Given the description of an element on the screen output the (x, y) to click on. 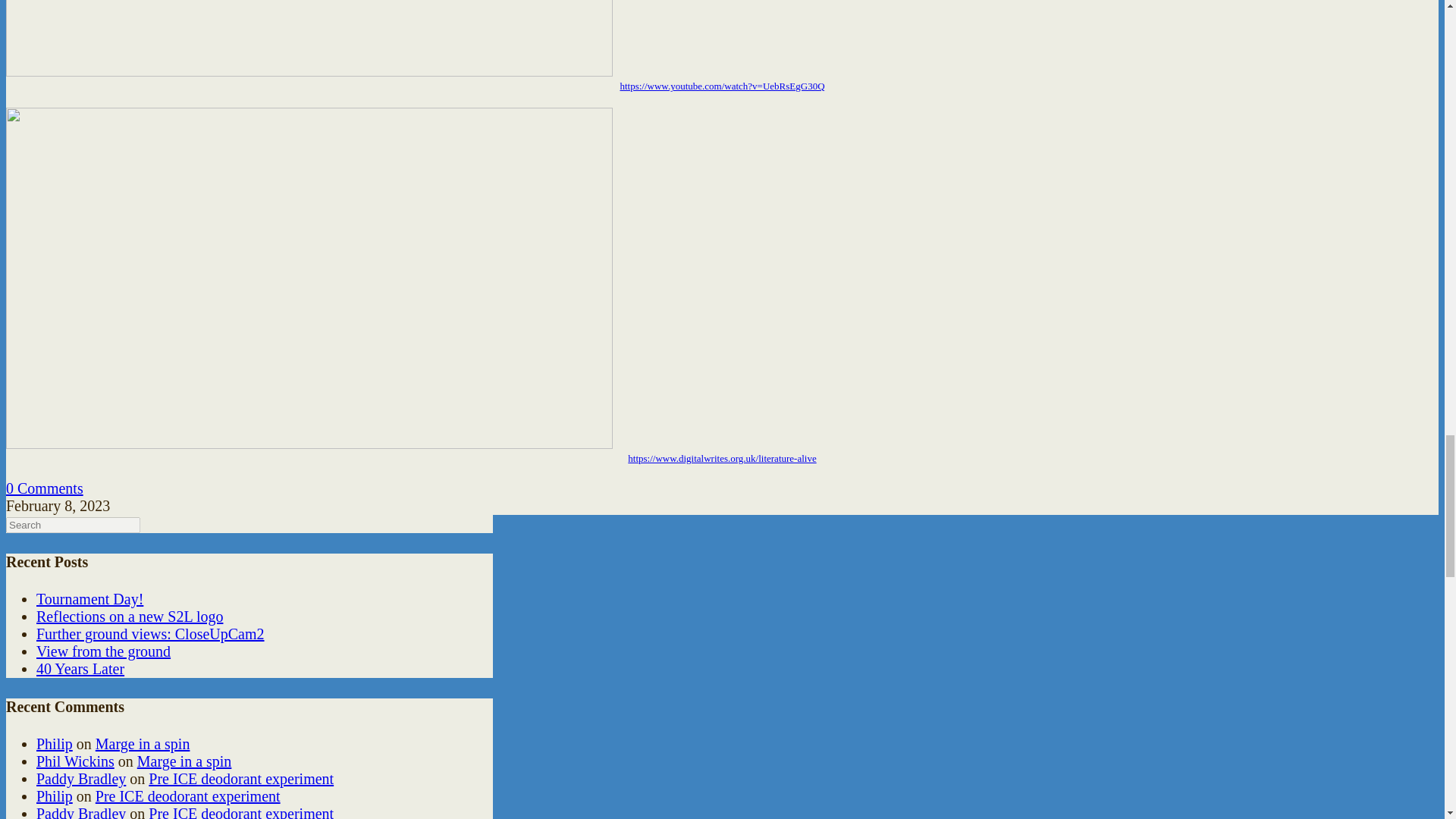
0 Comments (43, 487)
